Given the description of an element on the screen output the (x, y) to click on. 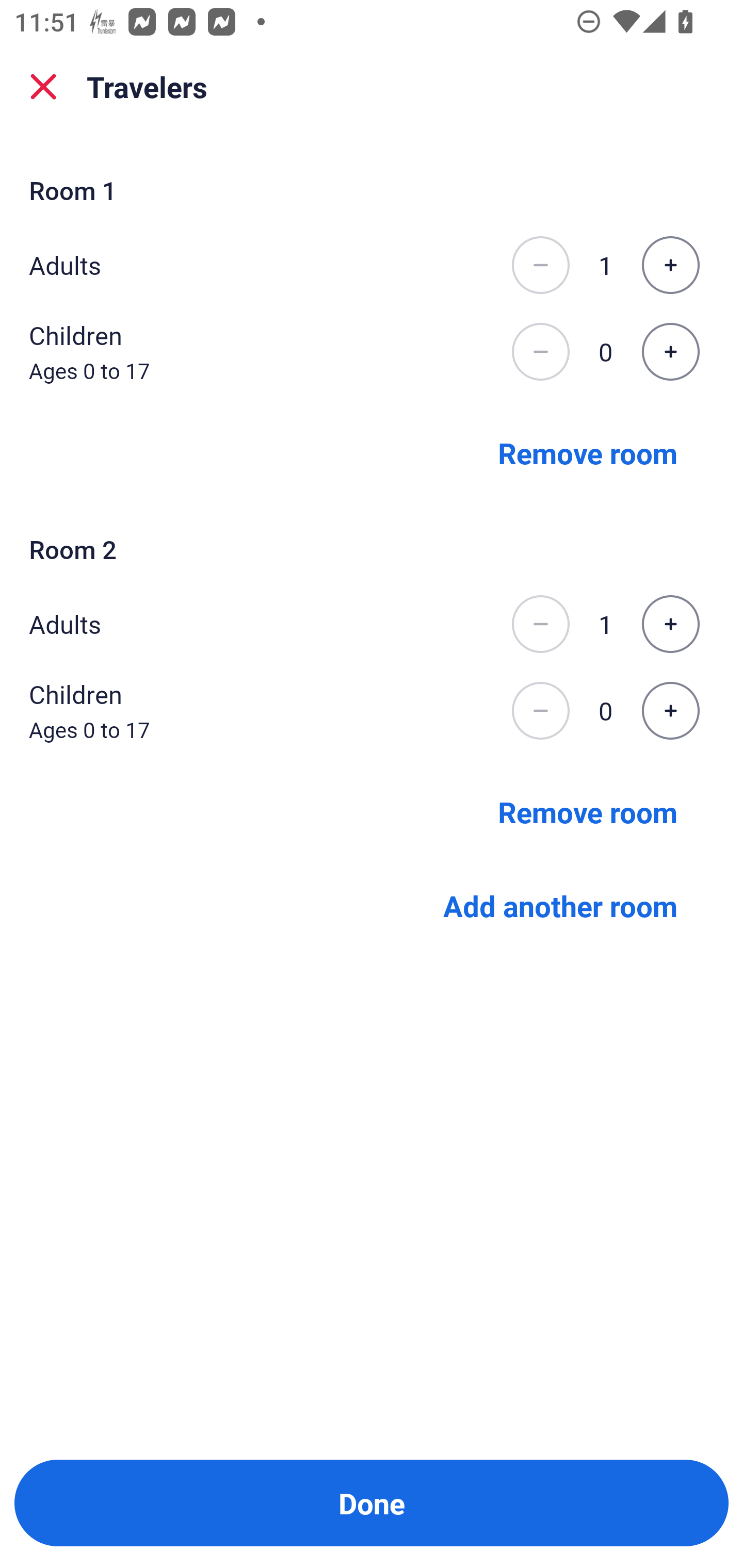
close (43, 86)
Decrease the number of adults (540, 264)
Increase the number of adults (670, 264)
Decrease the number of children (540, 351)
Increase the number of children (670, 351)
Remove room (588, 452)
Decrease the number of adults (540, 623)
Increase the number of adults (670, 623)
Decrease the number of children (540, 710)
Increase the number of children (670, 710)
Remove room (588, 811)
Add another room (560, 905)
Done (371, 1502)
